Given the description of an element on the screen output the (x, y) to click on. 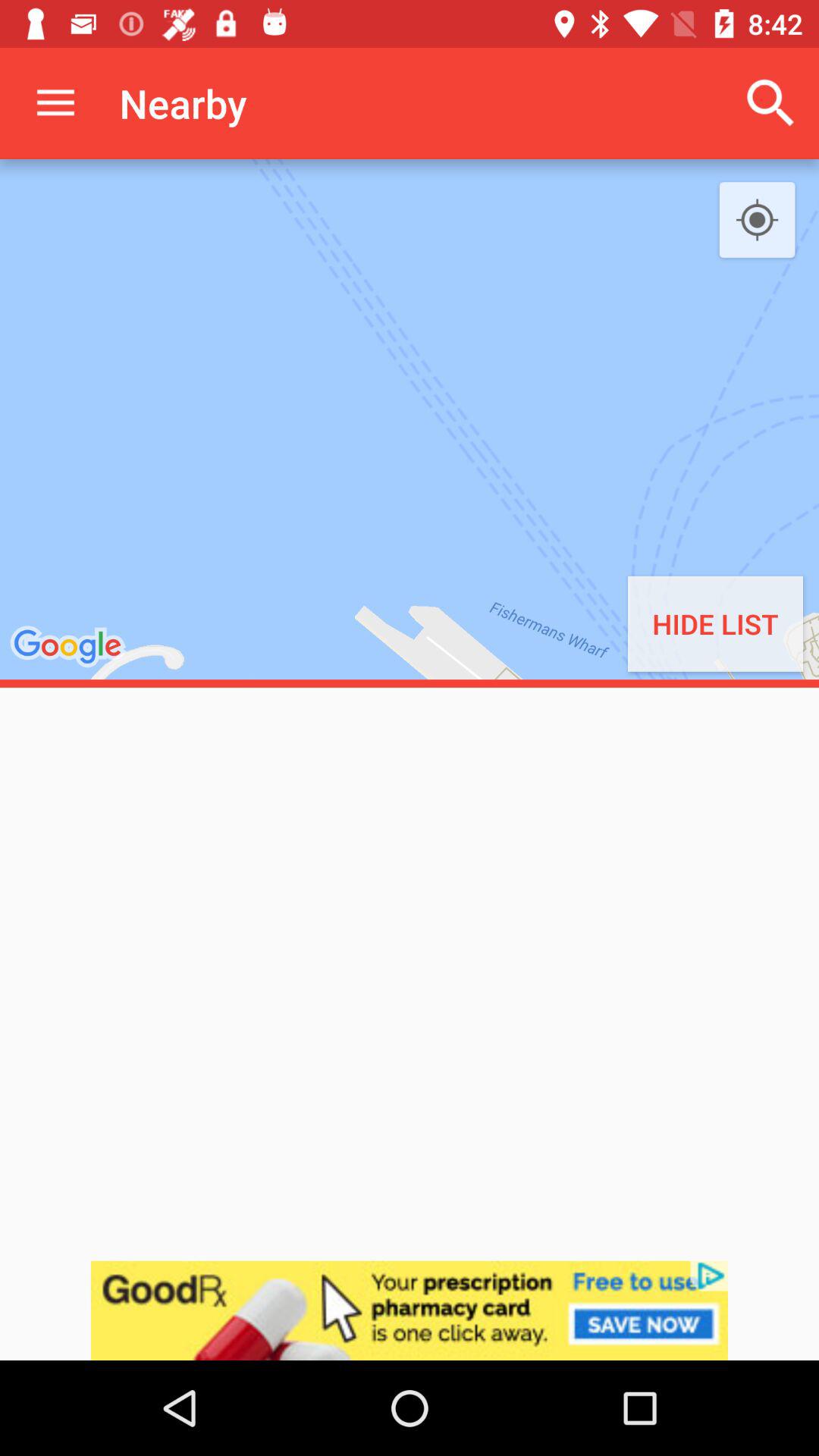
advertisement image (409, 1310)
